Given the description of an element on the screen output the (x, y) to click on. 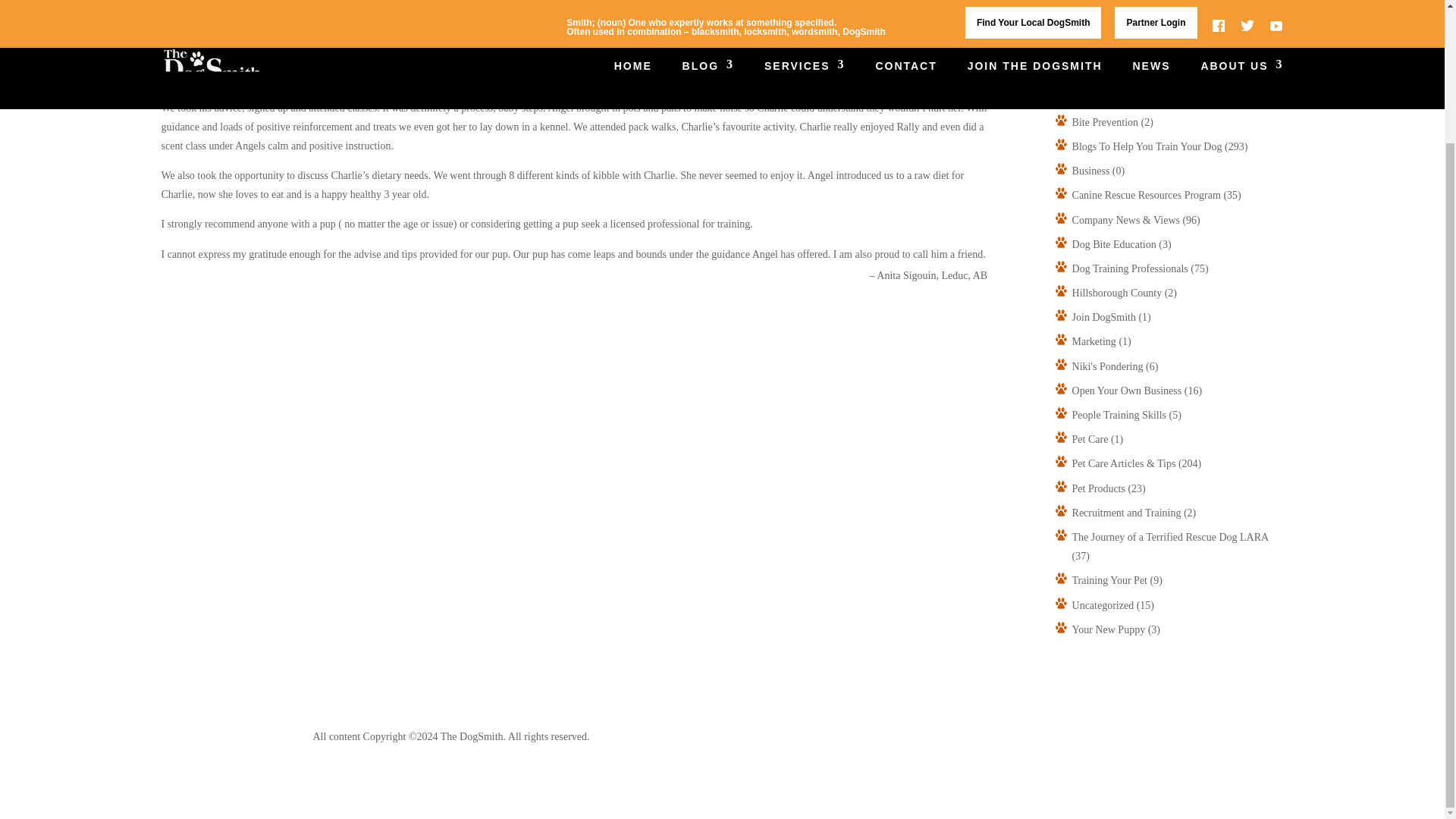
Blogs To Help You Train Your Dog (1147, 146)
Canine Rescue Resources Program (1146, 194)
Open Your Own Business (1126, 390)
Pet Care (1089, 439)
The Journey of a Terrified Rescue Dog LARA (1169, 536)
Niki's Pondering (1106, 366)
Follow on X (1045, 739)
Follow on Facebook (1015, 739)
Marketing (1093, 341)
arowe (1084, 98)
